Given the description of an element on the screen output the (x, y) to click on. 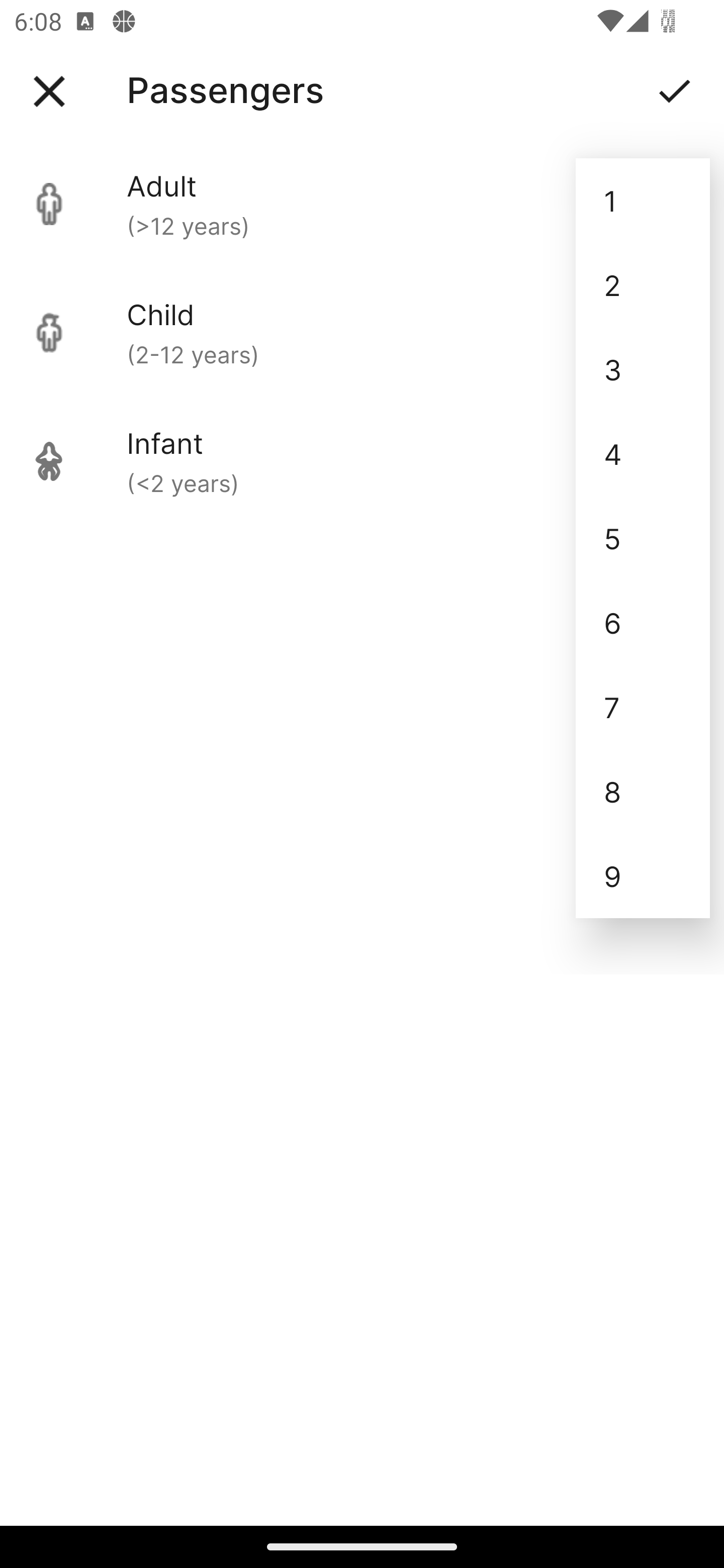
1 (642, 200)
2 (642, 285)
3 (642, 368)
4 (642, 452)
5 (642, 537)
6 (642, 622)
7 (642, 706)
8 (642, 791)
9 (642, 876)
